Given the description of an element on the screen output the (x, y) to click on. 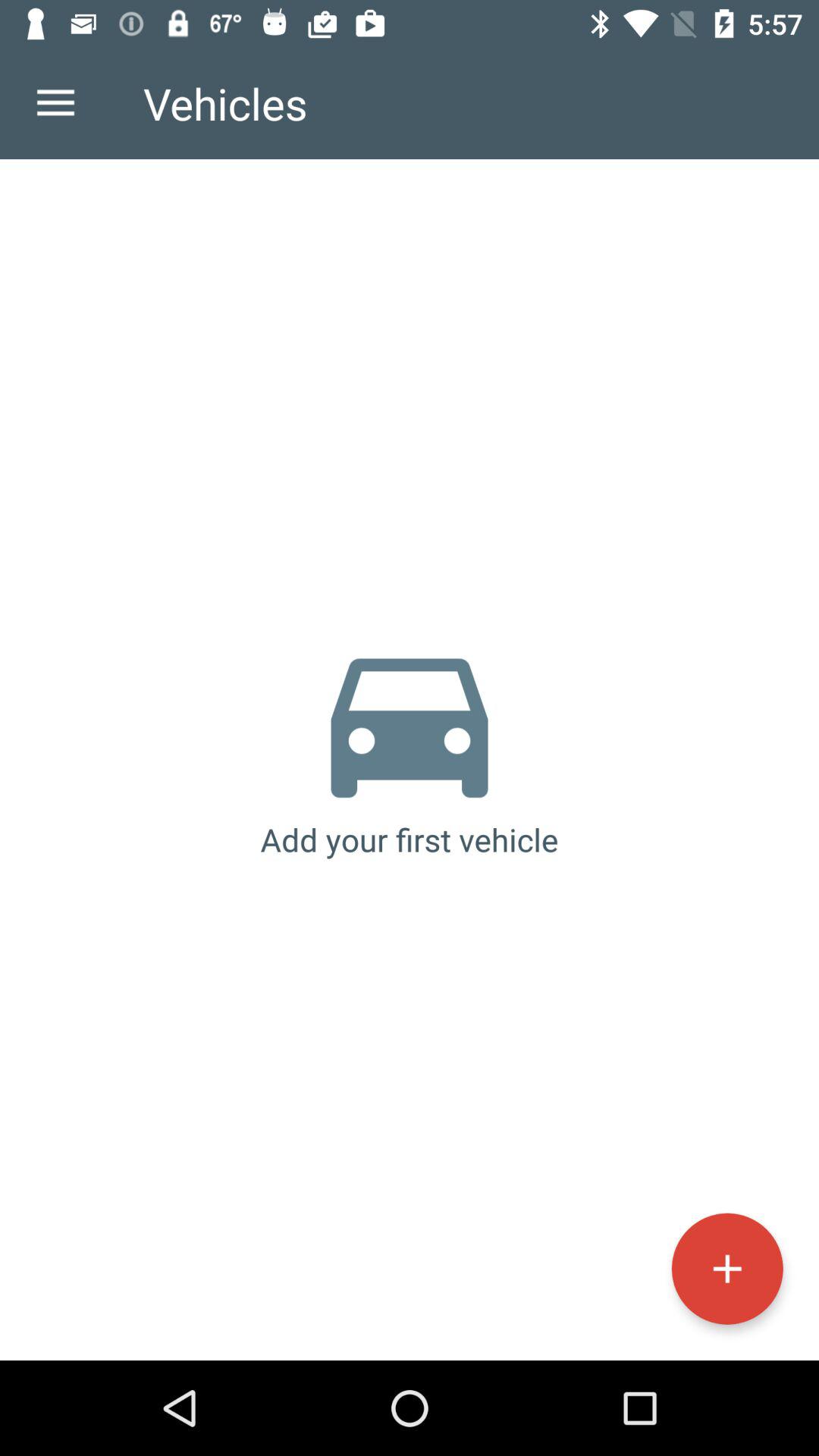
open the icon to the left of the vehicles (55, 103)
